Given the description of an element on the screen output the (x, y) to click on. 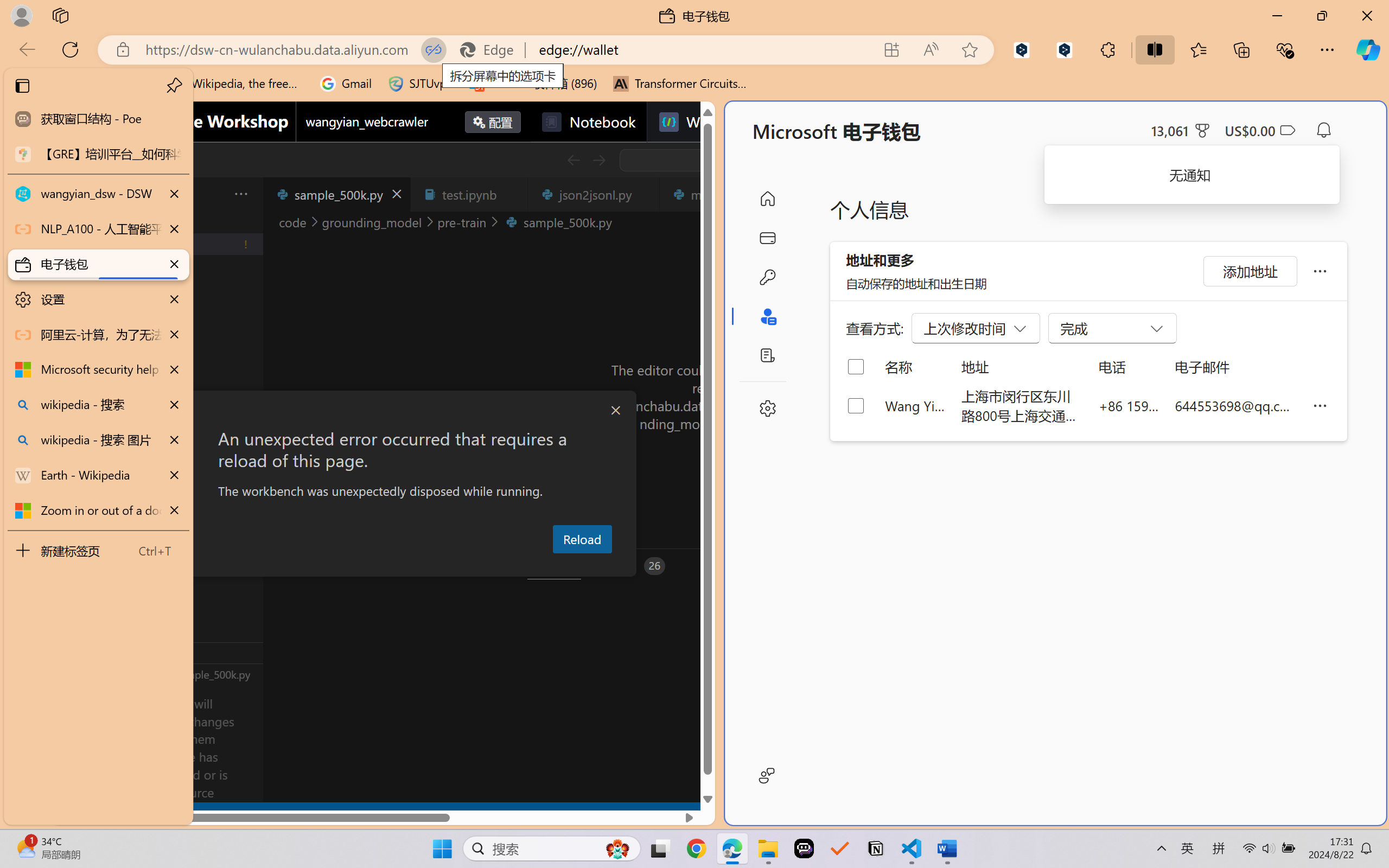
json2jsonl.py (593, 194)
Run and Debug (Ctrl+Shift+D) (73, 375)
main.py (717, 194)
+86 159 0032 4640 (1128, 405)
Reload (581, 538)
sample_500k.py (336, 194)
